Given the description of an element on the screen output the (x, y) to click on. 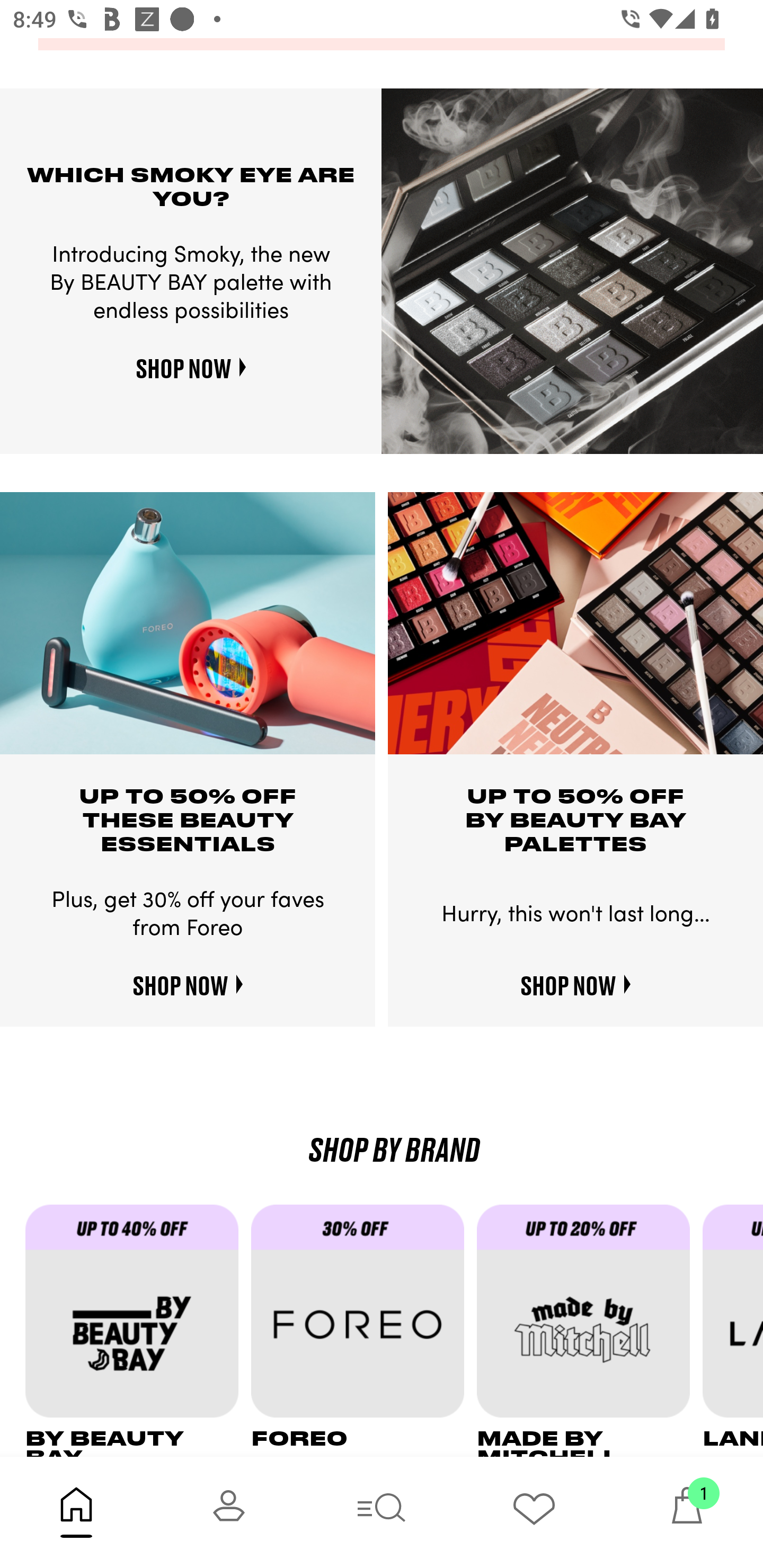
BY BEAUTY BAY (138, 1330)
FOREO (363, 1330)
MADE BY MITCHELL (589, 1330)
1 (686, 1512)
